Given the description of an element on the screen output the (x, y) to click on. 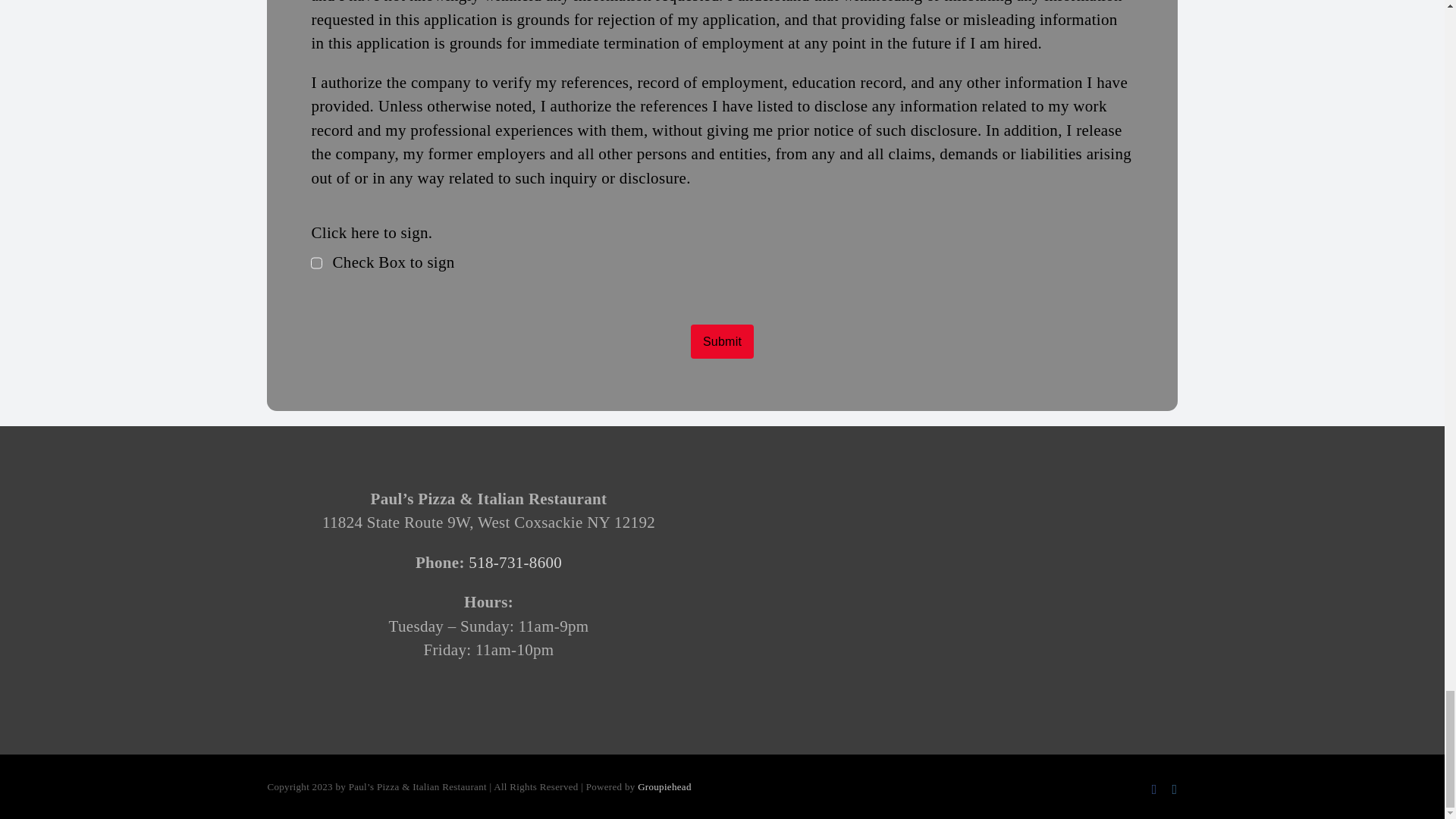
Submit (722, 341)
518-731-8600 (515, 562)
Groupiehead (664, 786)
